Given the description of an element on the screen output the (x, y) to click on. 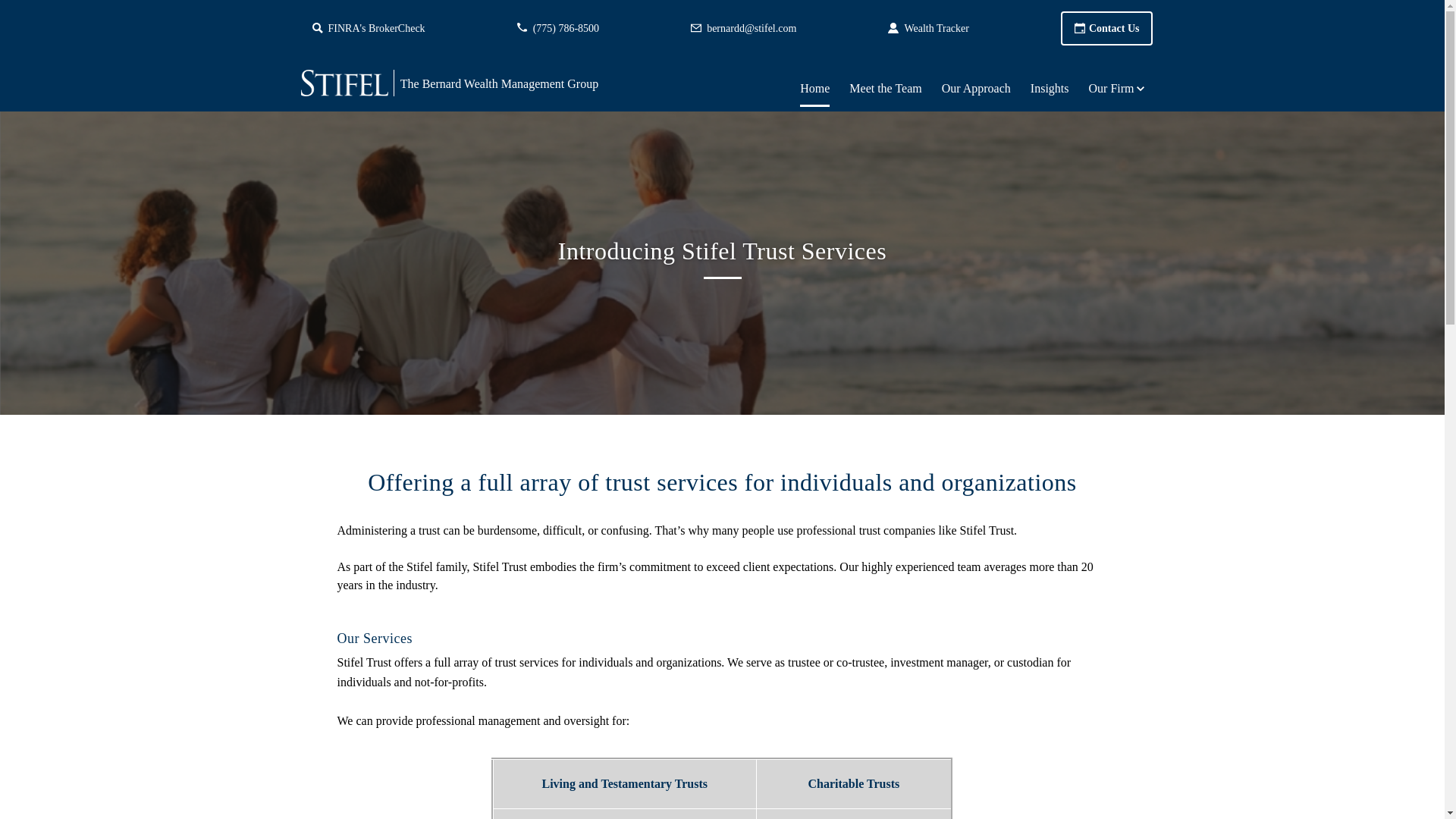
Wealth Tracker (928, 28)
FINRA's BrokerCheck (369, 28)
Insights (1049, 88)
Meet the Team (884, 88)
Contact Us (1107, 28)
Our Firm (1111, 88)
The Bernard Wealth Management Group (541, 82)
Our Approach (975, 88)
